Given the description of an element on the screen output the (x, y) to click on. 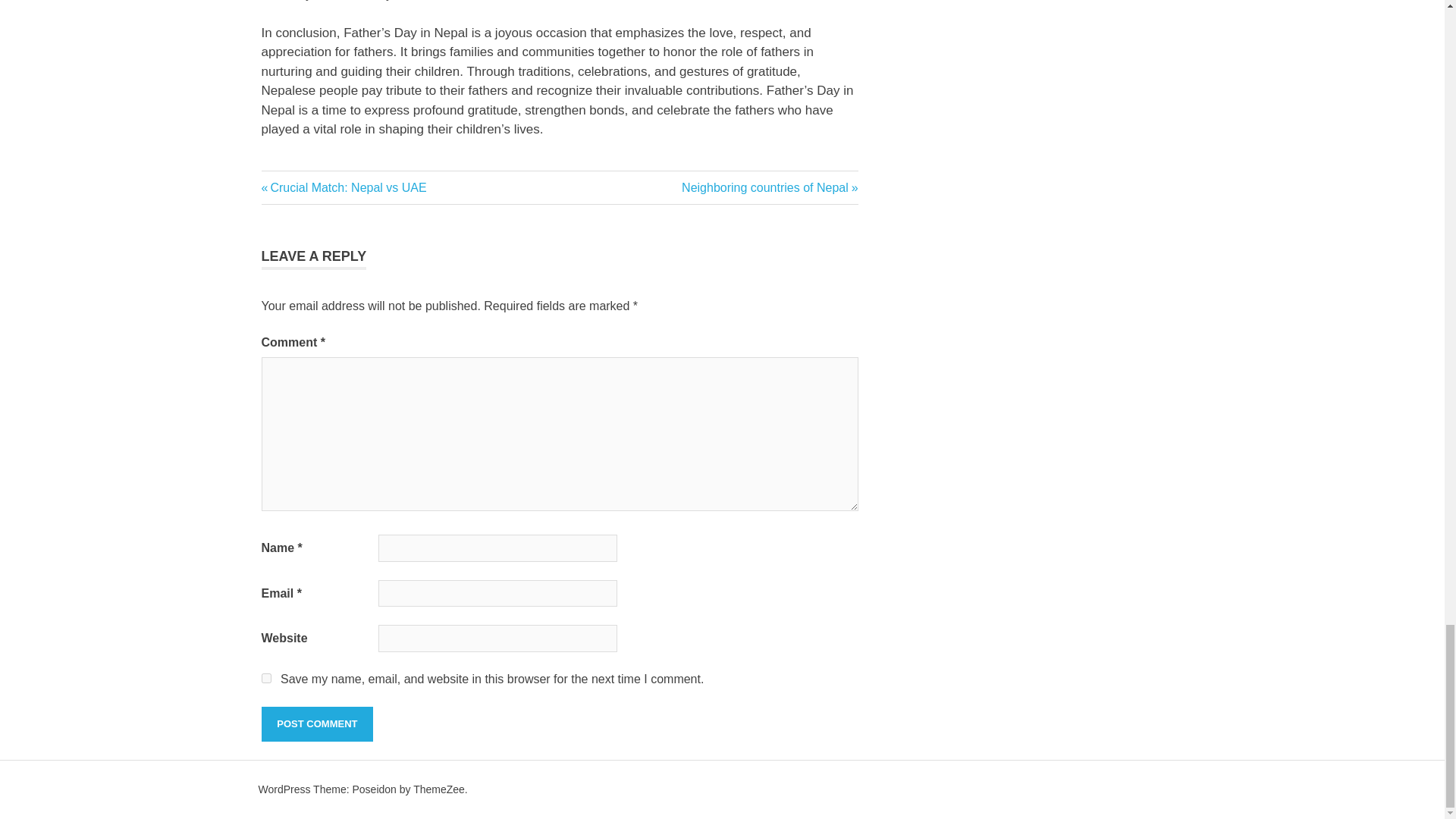
yes (343, 187)
Post Comment (265, 678)
Post Comment (770, 187)
